Given the description of an element on the screen output the (x, y) to click on. 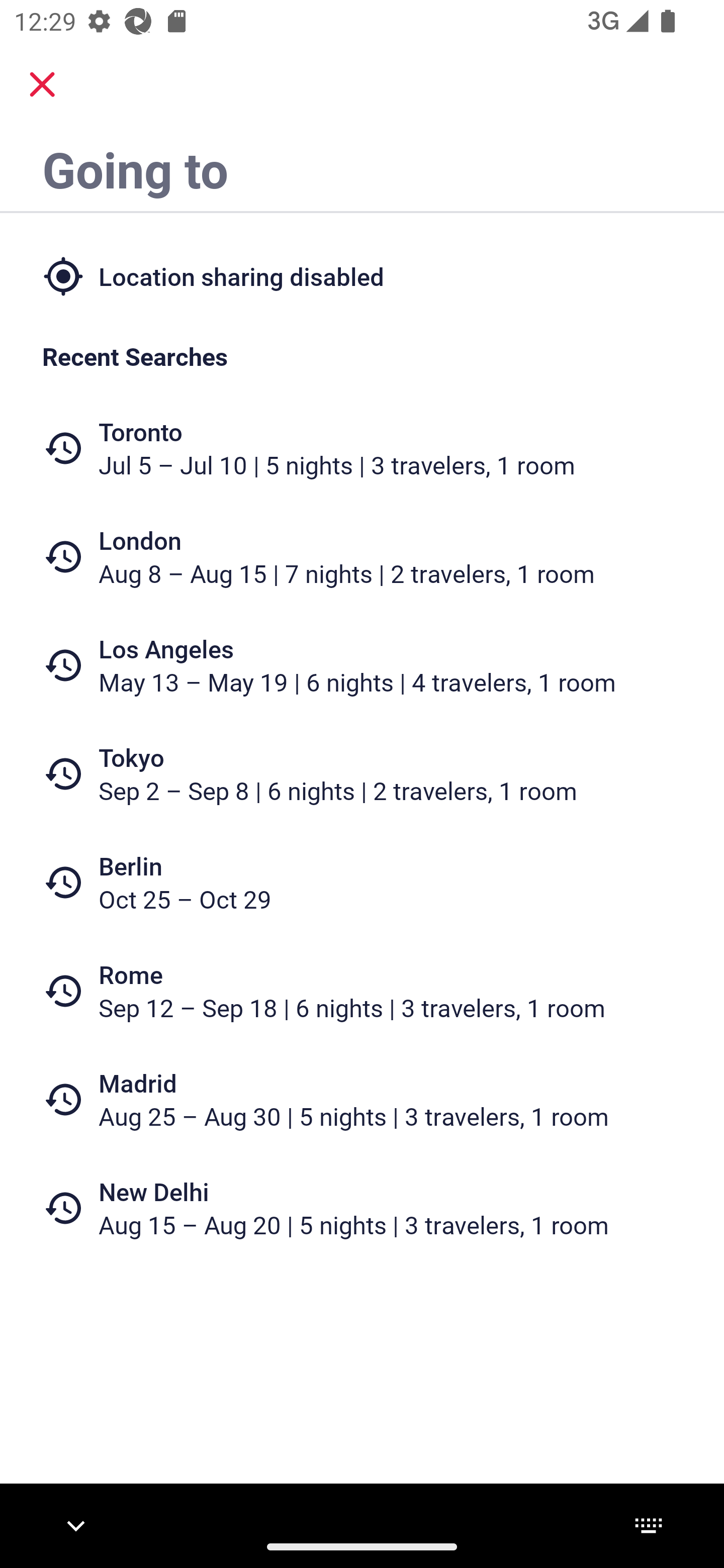
close. (42, 84)
Location sharing disabled (362, 275)
Berlin Oct 25 – Oct 29 (362, 881)
